Given the description of an element on the screen output the (x, y) to click on. 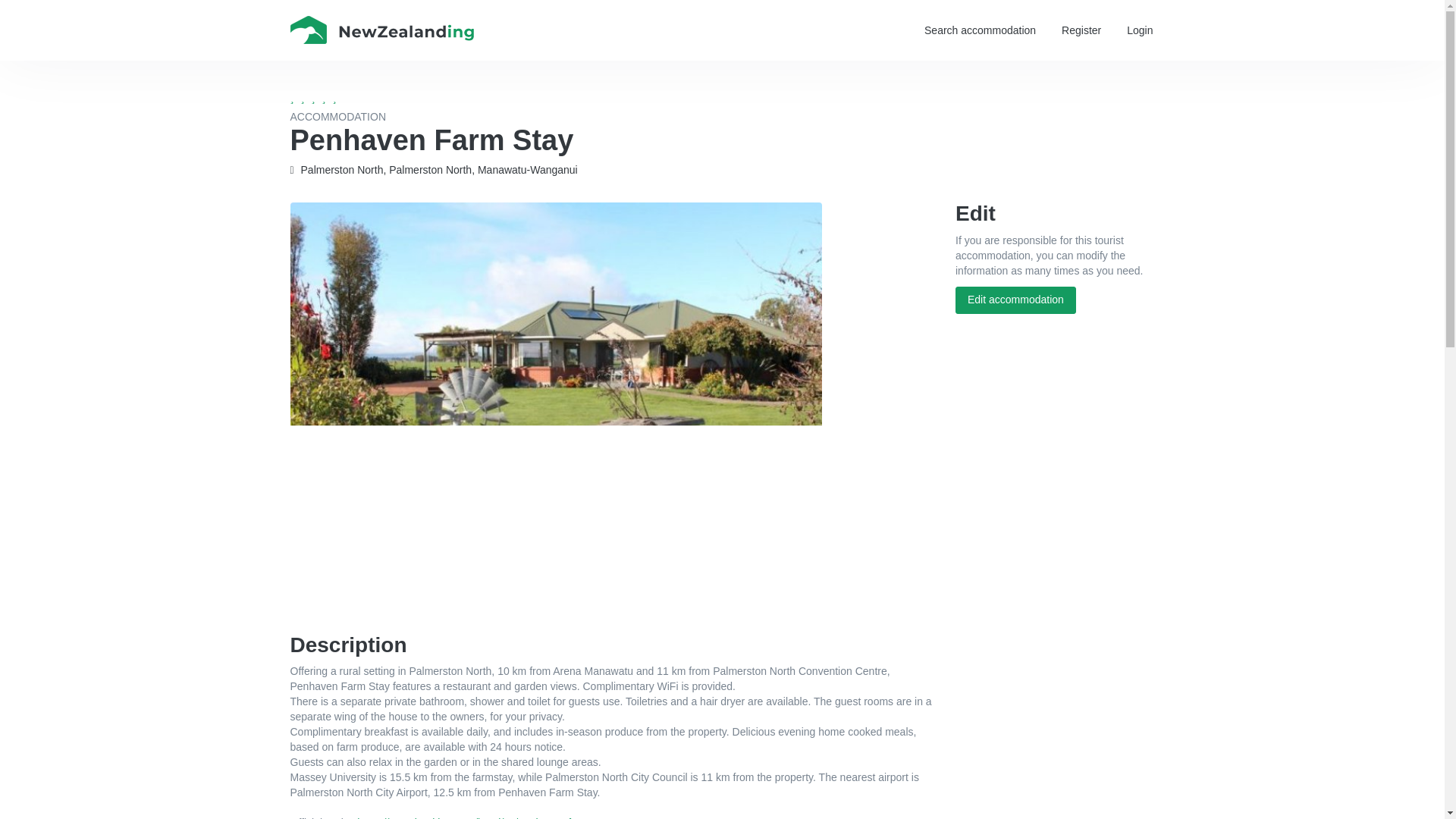
Register (1080, 30)
Edit accommodation (1015, 299)
Search accommodation (979, 30)
Login (1139, 30)
